Given the description of an element on the screen output the (x, y) to click on. 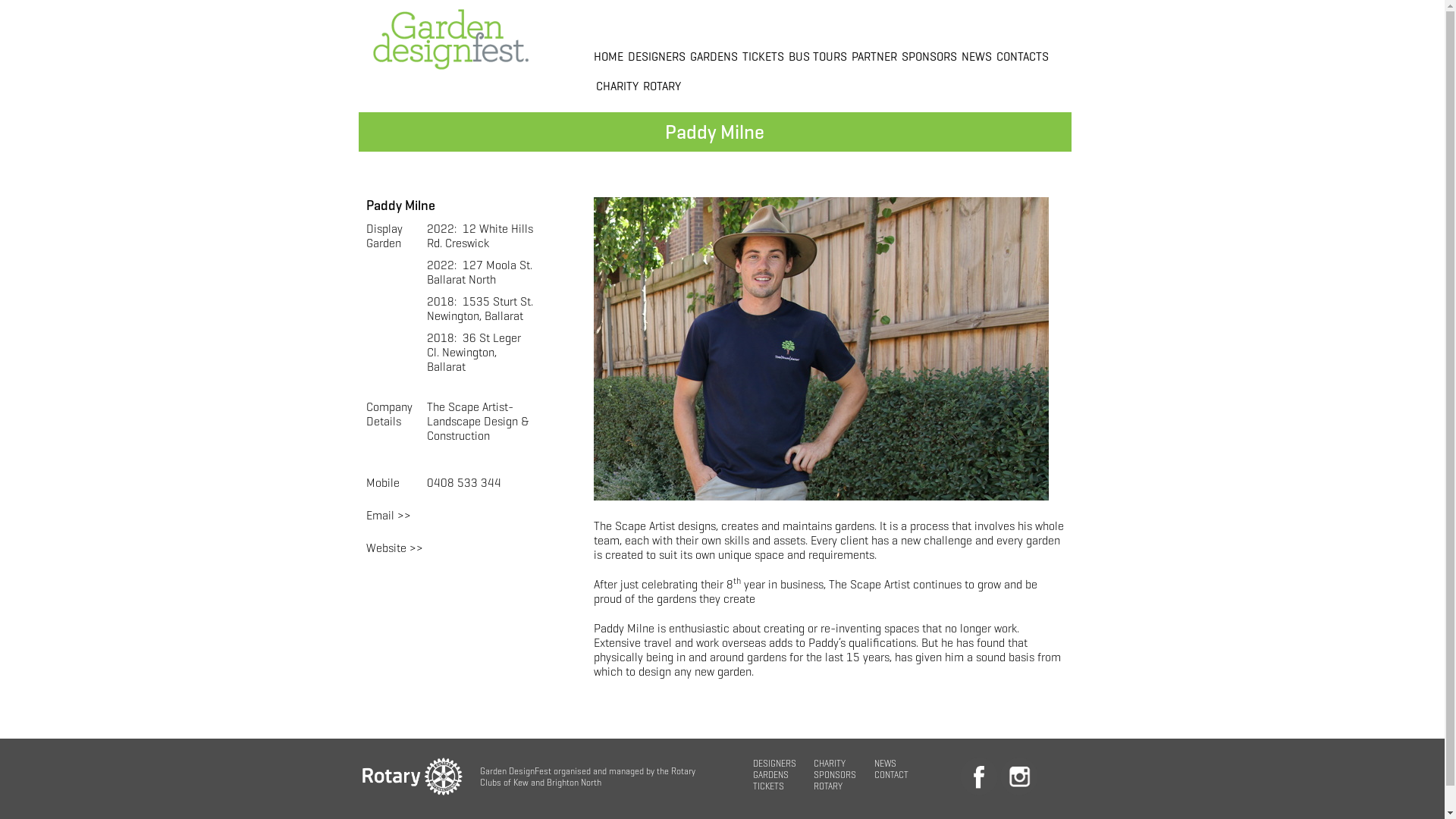
DESIGNERS Element type: text (656, 56)
ROTARY Element type: text (661, 85)
NEWS Element type: text (884, 762)
CONTACTS Element type: text (1022, 56)
SPONSORS Element type: text (928, 56)
TICKETS Element type: text (762, 56)
BUS TOURS Element type: text (817, 56)
GARDENS Element type: text (713, 56)
NEWS Element type: text (976, 56)
CONTACT Element type: text (890, 774)
DESIGNERS Element type: text (773, 762)
ROTARY Element type: text (826, 785)
2018:  36 St Leger Cl. Newington, Ballarat Element type: text (473, 351)
SPONSORS Element type: text (833, 774)
Website >> Element type: text (393, 547)
GARDENS Element type: text (769, 774)
HOME Element type: text (607, 56)
2022:  127 Moola St. Ballarat North Element type: text (478, 271)
Skip to content Element type: text (0, 0)
TICKETS Element type: text (767, 785)
2022:  12 White Hills Rd. Creswick Element type: text (479, 235)
CHARITY Element type: text (828, 762)
CHARITY Element type: text (617, 85)
2018:  1535 Sturt St. Newington, Ballarat Element type: text (479, 308)
PARTNER Element type: text (873, 56)
Email >> Element type: text (387, 515)
